Given the description of an element on the screen output the (x, y) to click on. 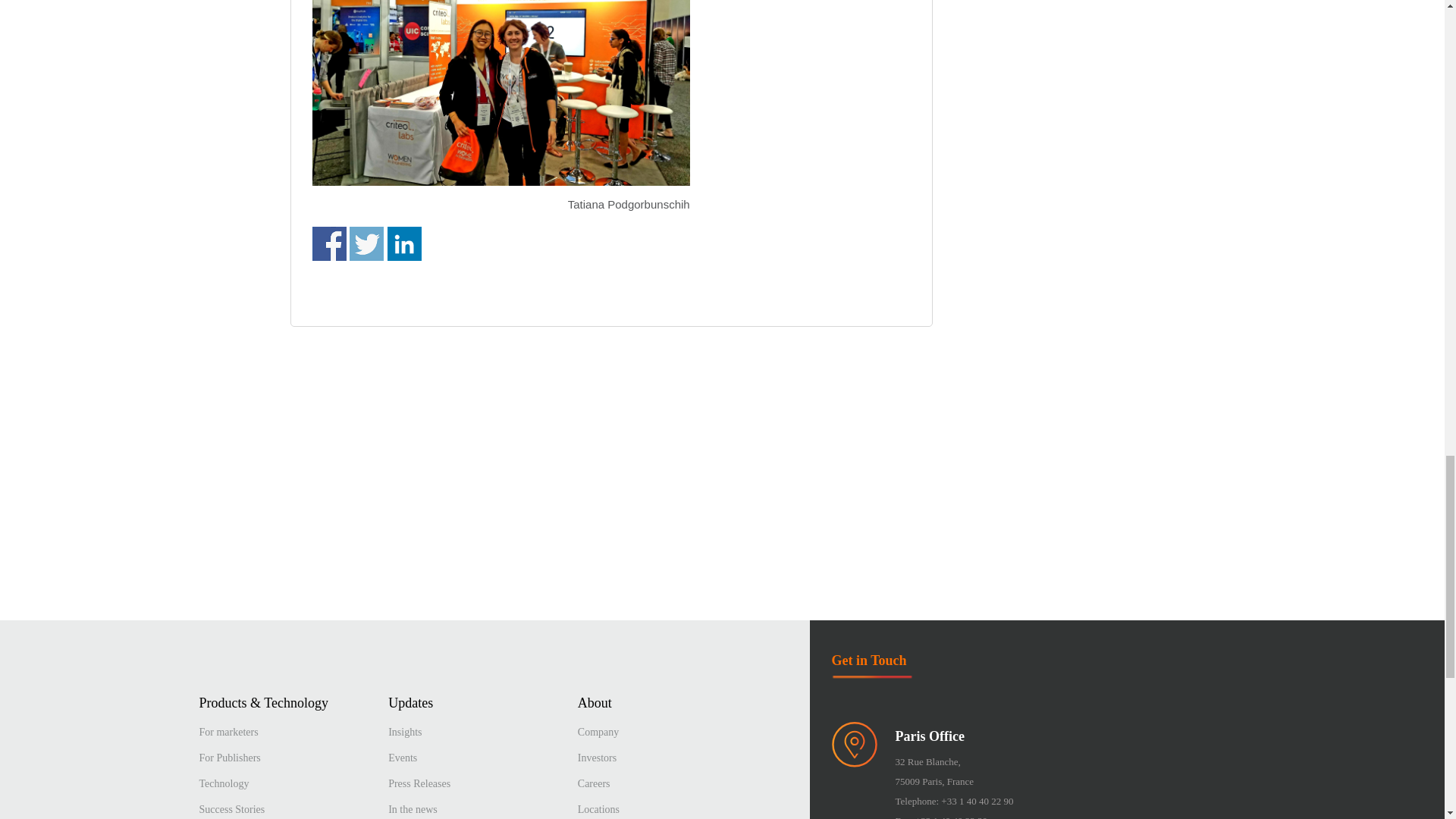
Share on Facebook (329, 243)
Share on Twitter (366, 243)
Share on Linkedin (404, 243)
